Given the description of an element on the screen output the (x, y) to click on. 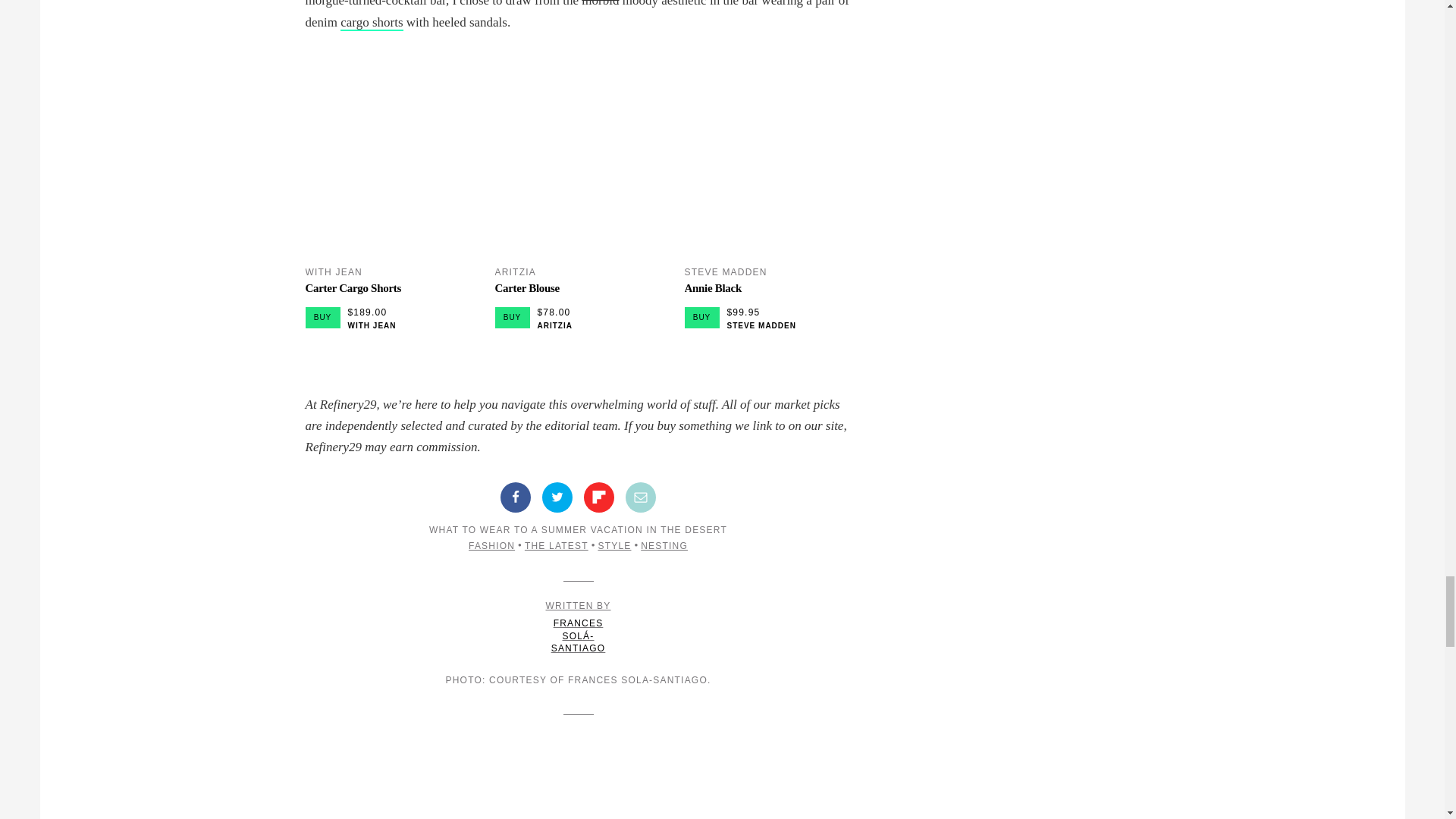
Share by Email (641, 497)
Share on Twitter (556, 497)
Share on Flipboard (598, 497)
